Given the description of an element on the screen output the (x, y) to click on. 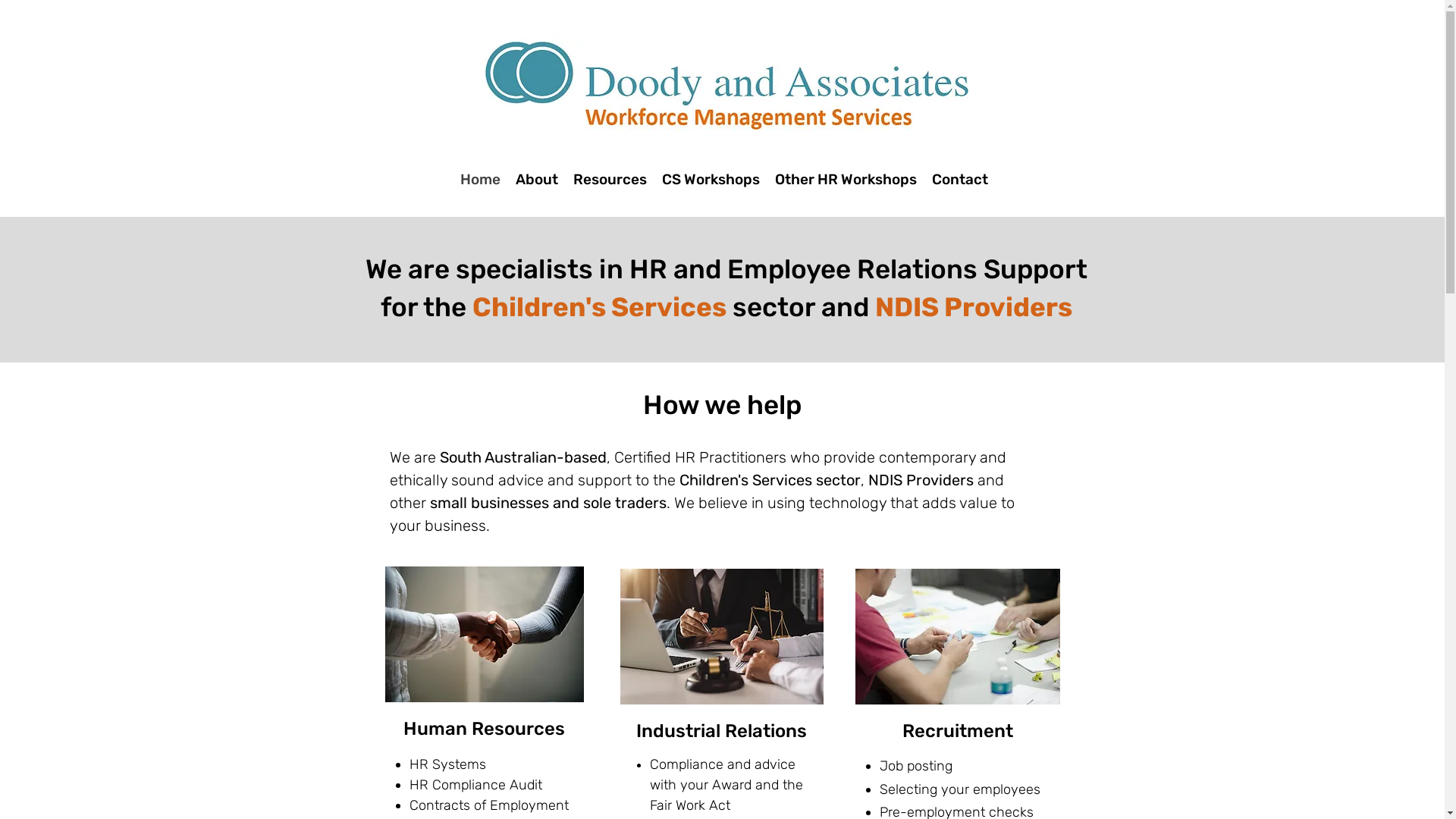
Handshake Element type: hover (484, 633)
Contact Element type: text (958, 179)
About Element type: text (536, 179)
Resources Element type: text (609, 179)
Other HR Workshops Element type: text (845, 179)
Law Office Element type: hover (721, 636)
Home Element type: text (479, 179)
CS Workshops Element type: text (709, 179)
